Given the description of an element on the screen output the (x, y) to click on. 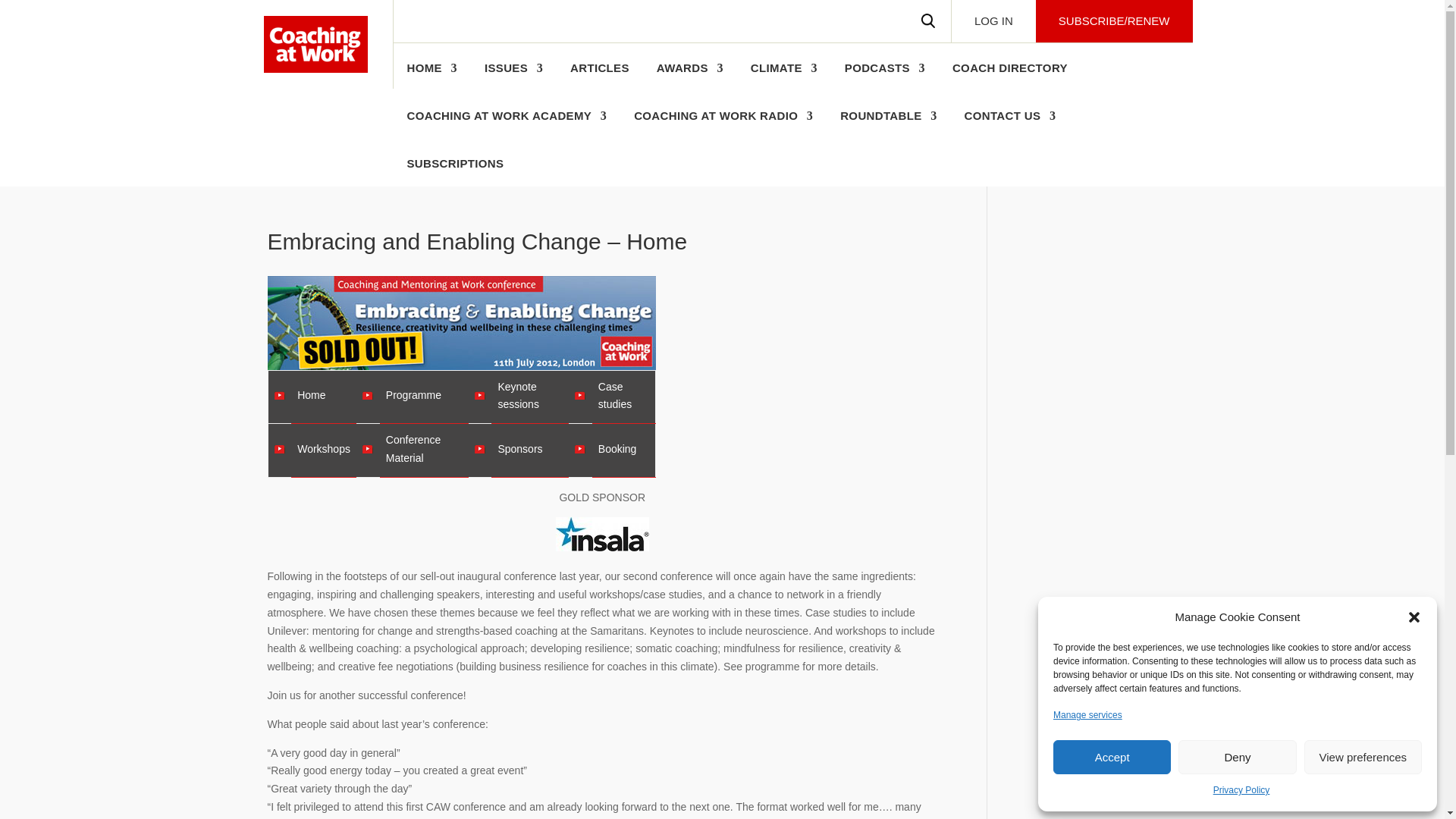
SEARCH (927, 21)
View preferences (1363, 756)
Manage services (1087, 715)
Accept (1111, 756)
LOG IN (992, 21)
HOME (431, 76)
Privacy Policy (1240, 791)
ISSUES (513, 76)
Deny (1236, 756)
